Given the description of an element on the screen output the (x, y) to click on. 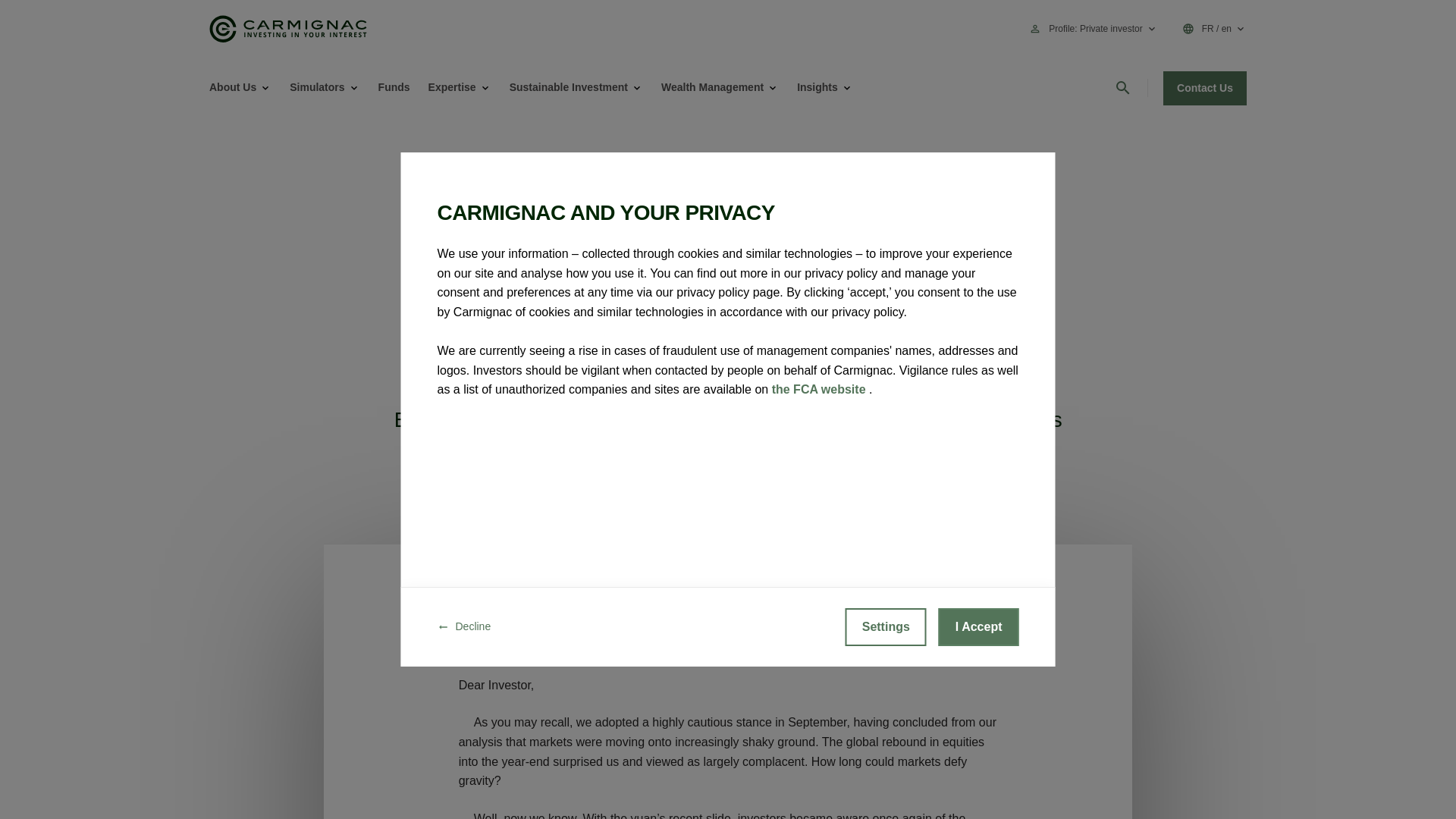
I Accept (979, 627)
Settings (885, 627)
Profile: Private investor (1102, 28)
Decline (463, 627)
the FCA website (820, 389)
Simulators (316, 87)
